Given the description of an element on the screen output the (x, y) to click on. 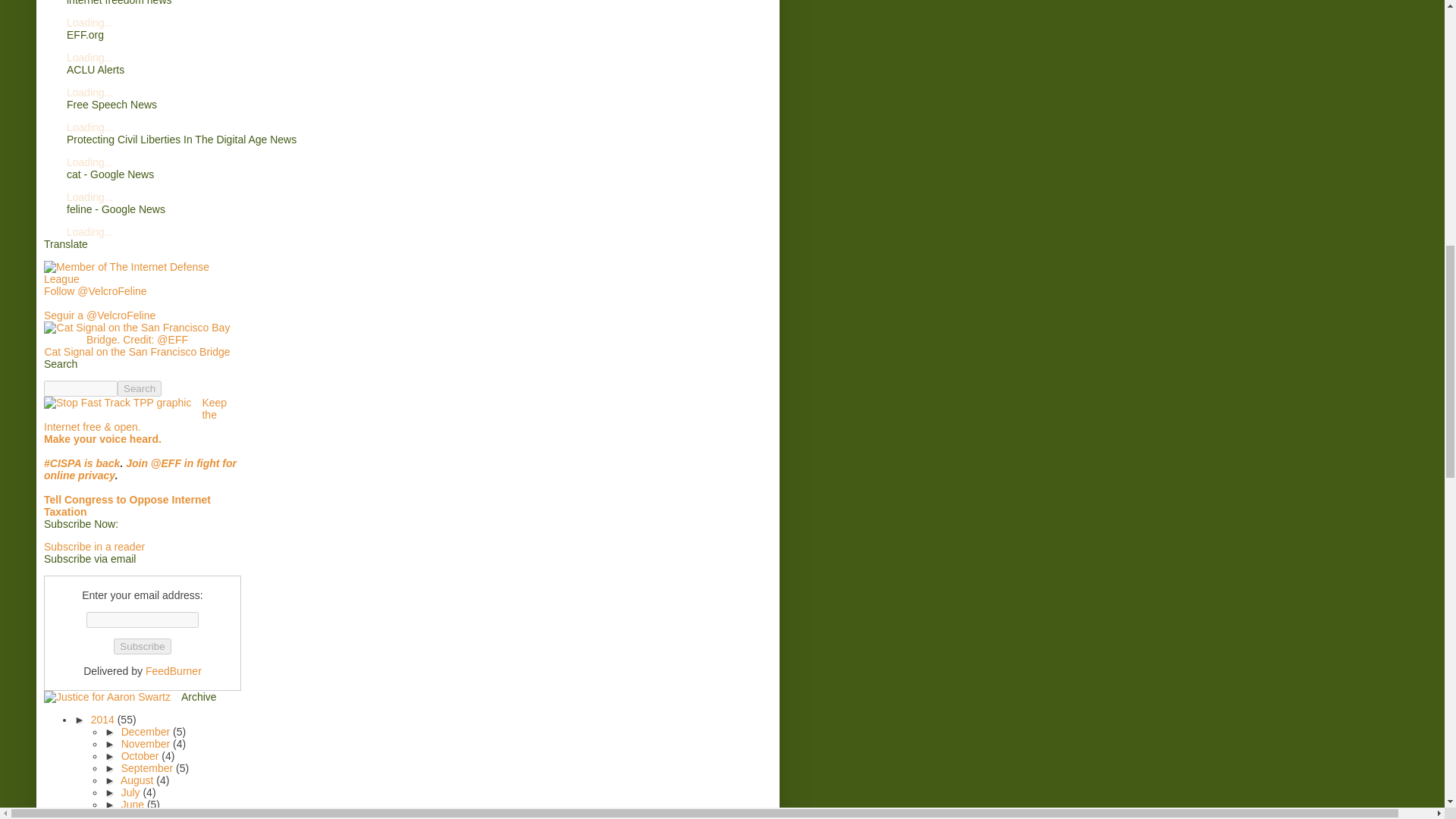
Stop Fast Track TPP (116, 402)
Loading... (89, 92)
search (80, 388)
Loading... (89, 127)
Loading... (89, 22)
Subscribe (141, 646)
Loading... (89, 196)
Loading... (89, 232)
Search (139, 388)
Search (139, 388)
Justice for Aaron Swartz (106, 696)
search (139, 388)
Subscribe to my feed (93, 546)
Search (139, 388)
Cat Signal on the San Francisco Bridge (136, 351)
